Given the description of an element on the screen output the (x, y) to click on. 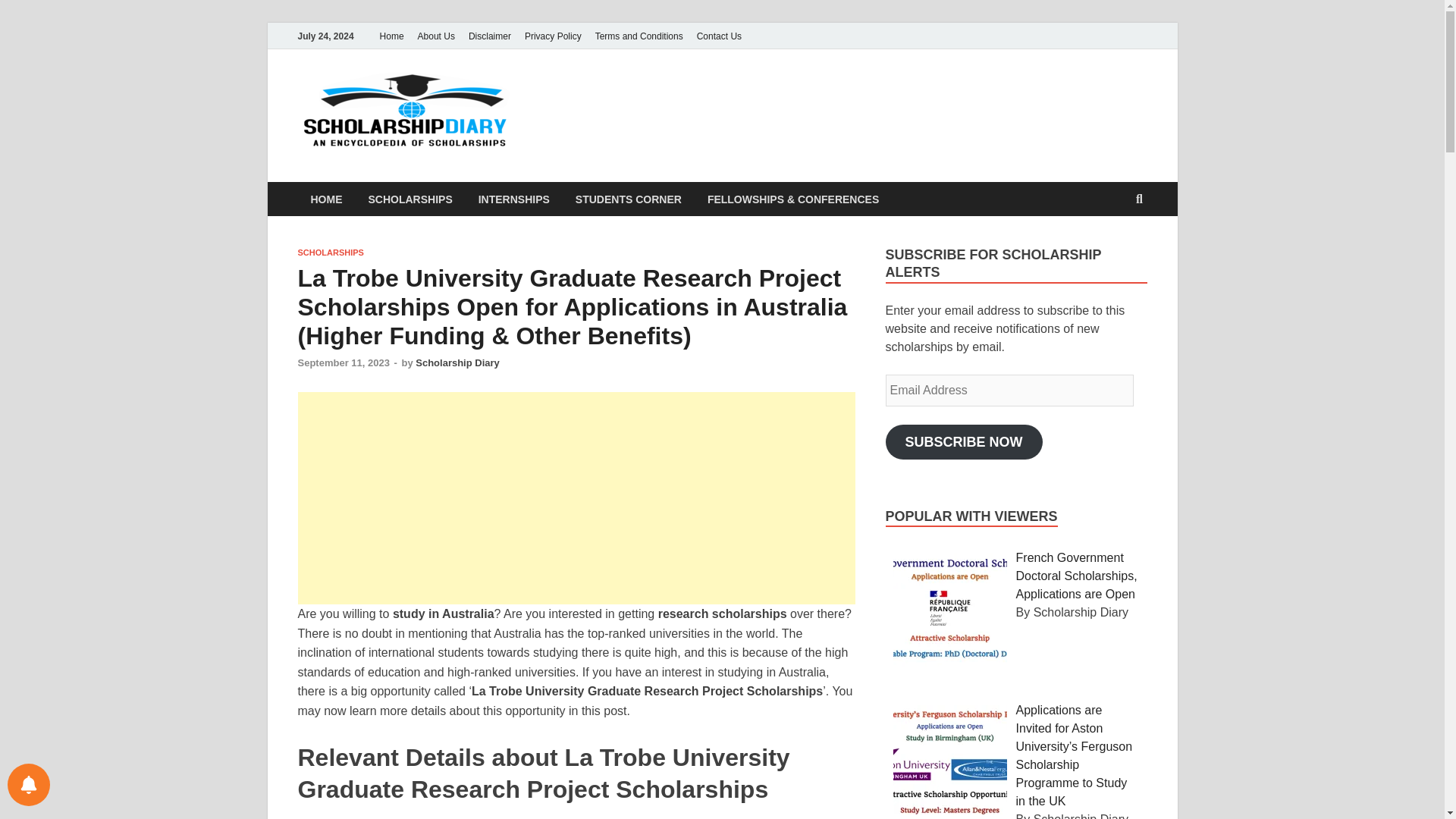
Terms and Conditions (639, 35)
Disclaimer (489, 35)
About Us (435, 35)
INTERNSHIPS (513, 198)
SCHOLARSHIPS (329, 252)
SCHOLARSHIPS (409, 198)
Scholarship Diary (456, 362)
STUDENTS CORNER (628, 198)
Home (391, 35)
HOME (326, 198)
Contact Us (719, 35)
Privacy Policy (553, 35)
Advertisement (575, 498)
Scholarship Diary (652, 100)
September 11, 2023 (342, 362)
